Given the description of an element on the screen output the (x, y) to click on. 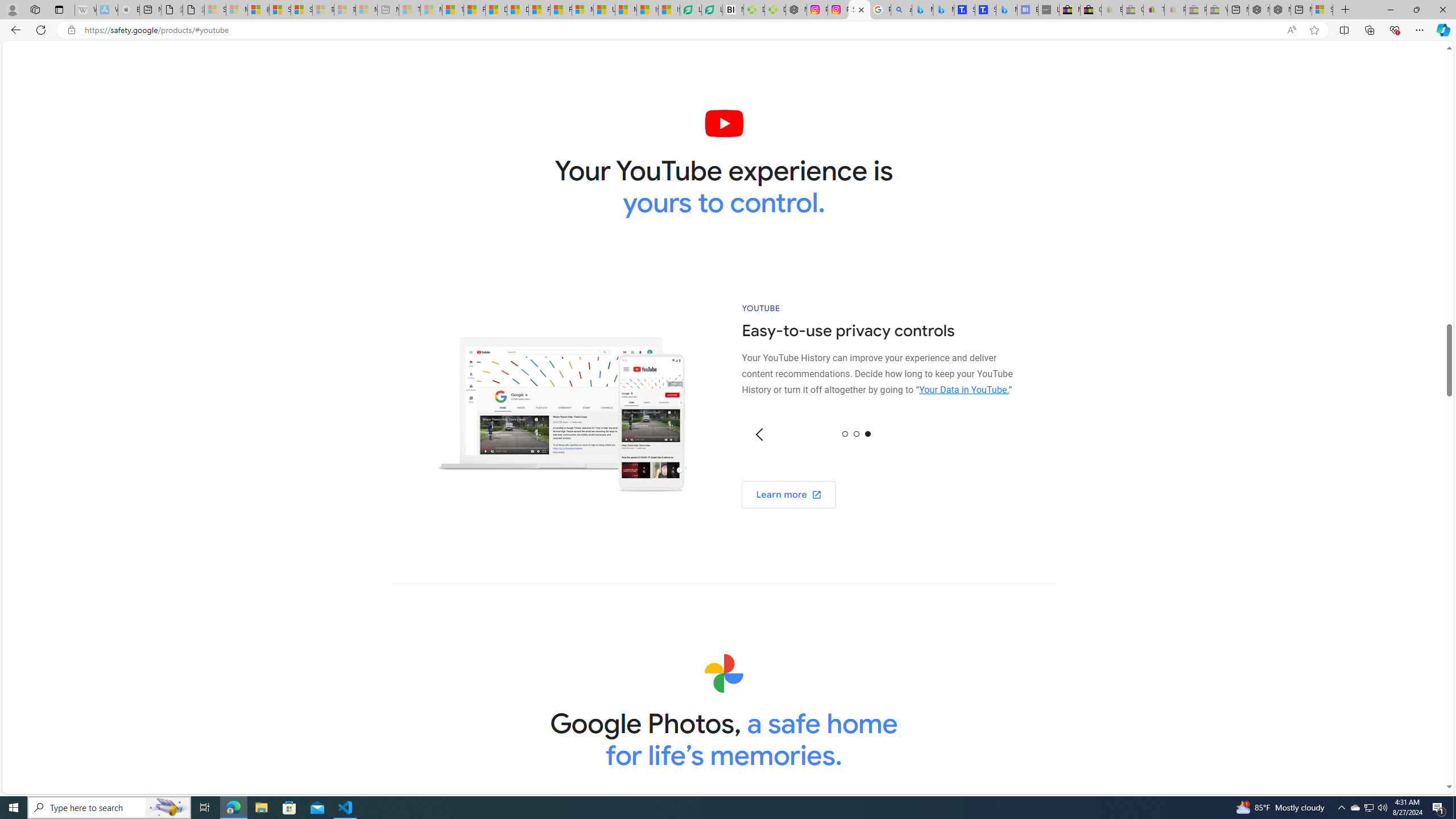
Safety in Our Products - Google Safety Center (859, 9)
Marine life - MSN - Sleeping (431, 9)
Buy iPad - Apple - Sleeping (128, 9)
Go to Your Data in YouTube (963, 389)
Top Stories - MSN - Sleeping (409, 9)
Nvidia va a poner a prueba la paciencia de los inversores (732, 9)
Sign in to your Microsoft account (1322, 9)
